Given the description of an element on the screen output the (x, y) to click on. 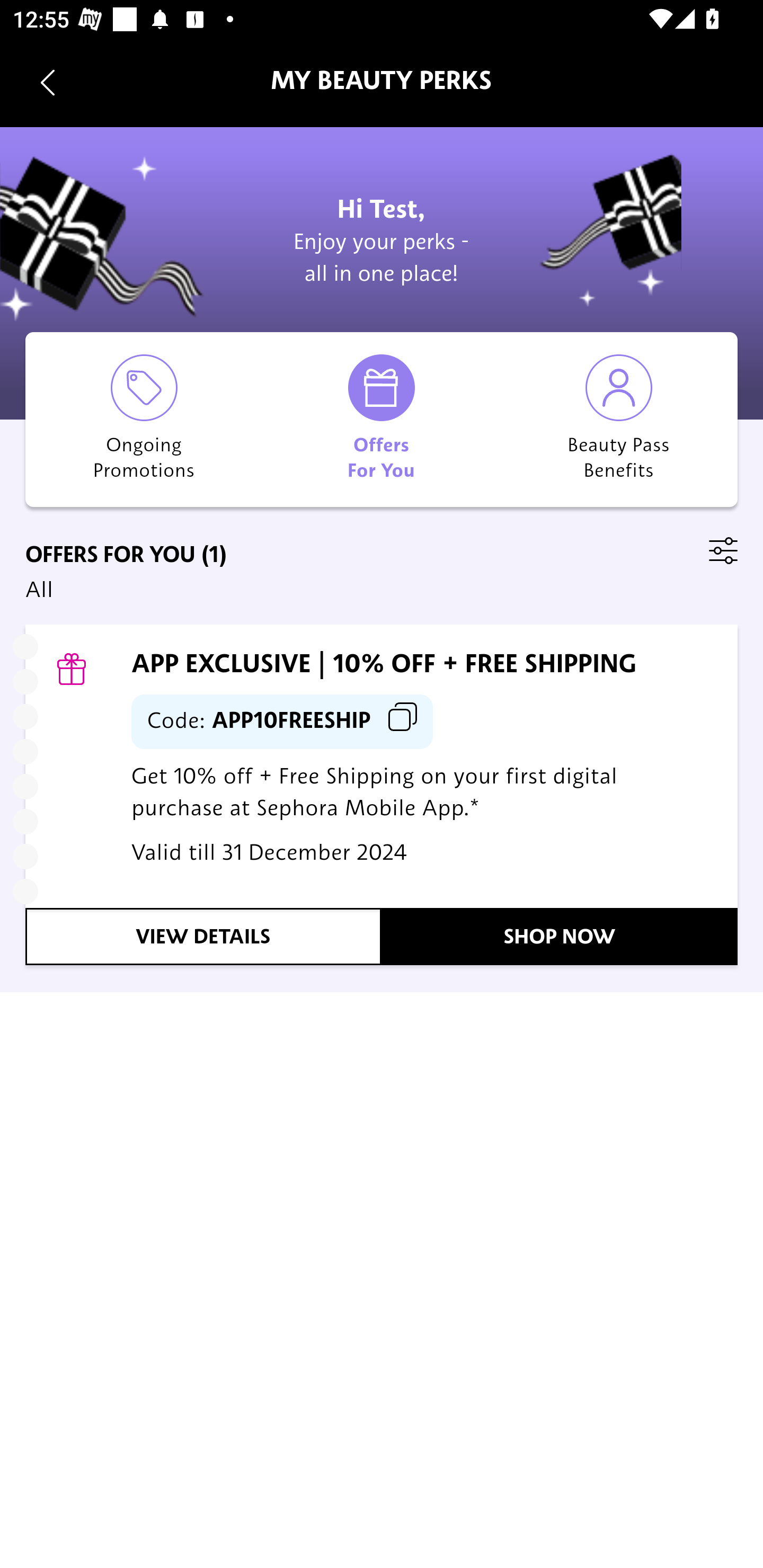
Ongoing Promotions (143, 419)
Offers
For You (381, 419)
Beauty Pass Benefits (619, 419)
VIEW DETAILS (203, 936)
SHOP NOW (559, 936)
